Given the description of an element on the screen output the (x, y) to click on. 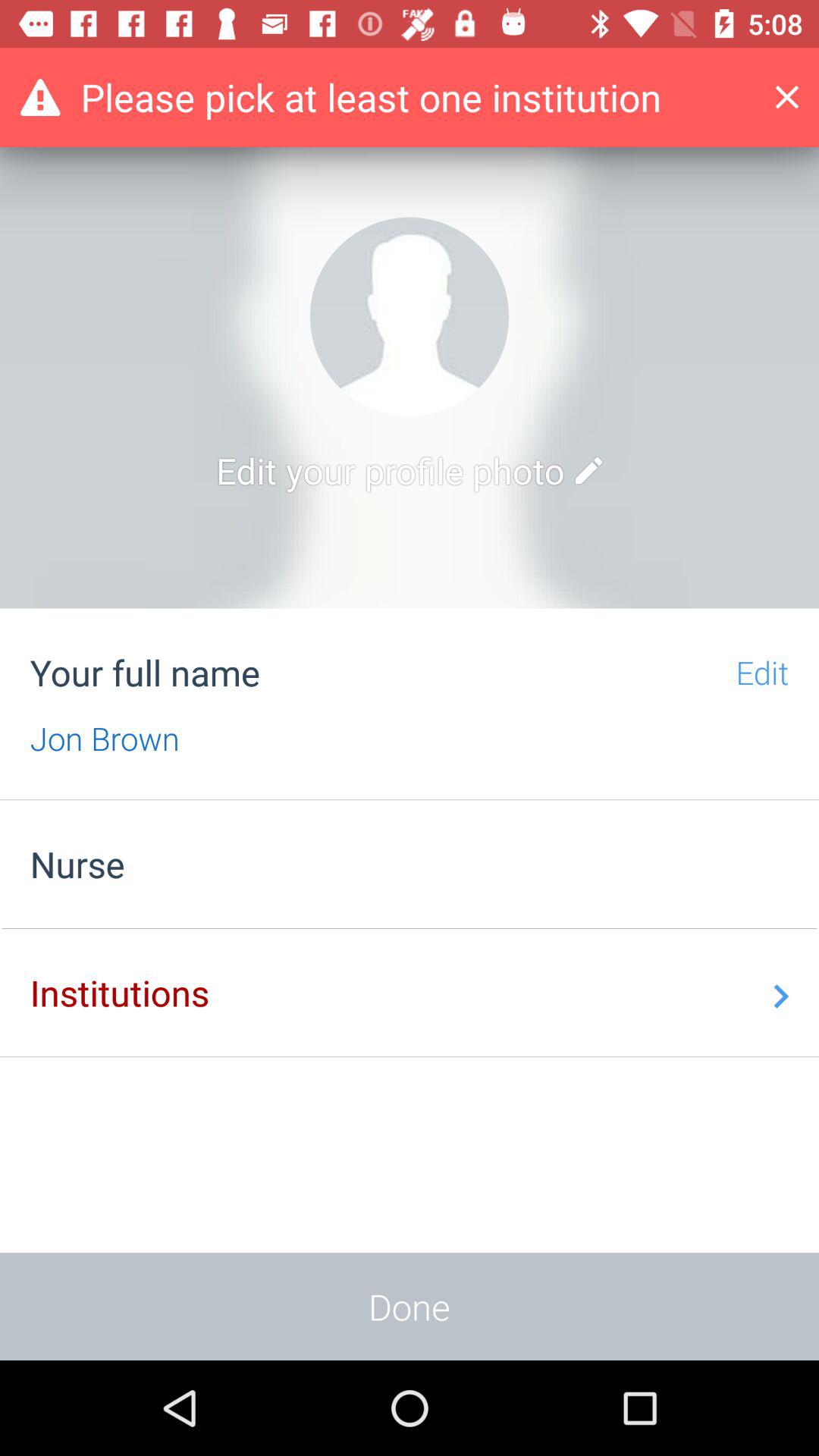
close this screen (798, 97)
